Given the description of an element on the screen output the (x, y) to click on. 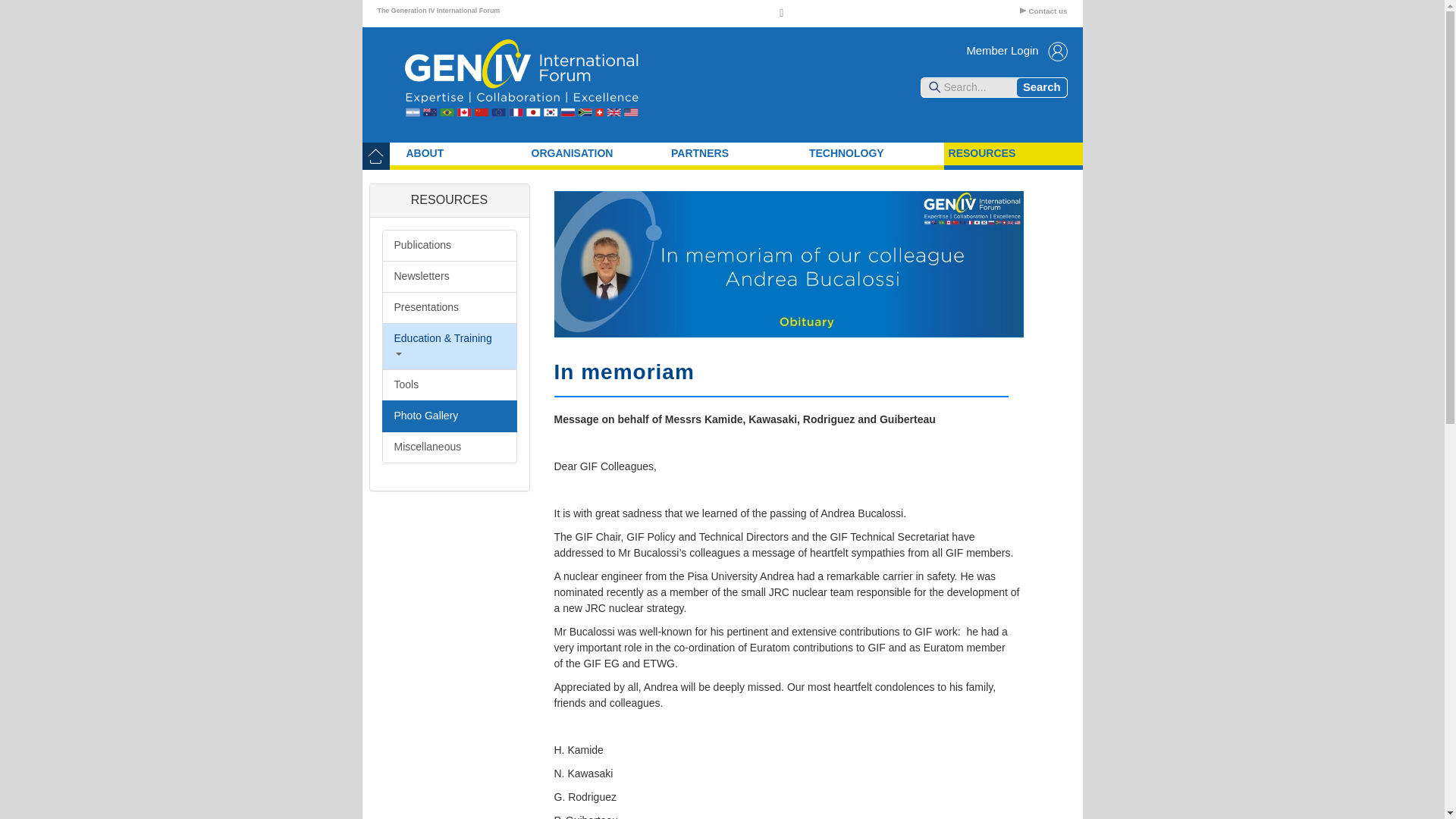
Member Login (1016, 51)
Home (536, 85)
Contact us (1043, 10)
Home (376, 153)
TECHNOLOGY (874, 153)
true (1041, 87)
PARTNERS (735, 153)
ORGANISATION (596, 153)
ABOUT (464, 153)
